Given the description of an element on the screen output the (x, y) to click on. 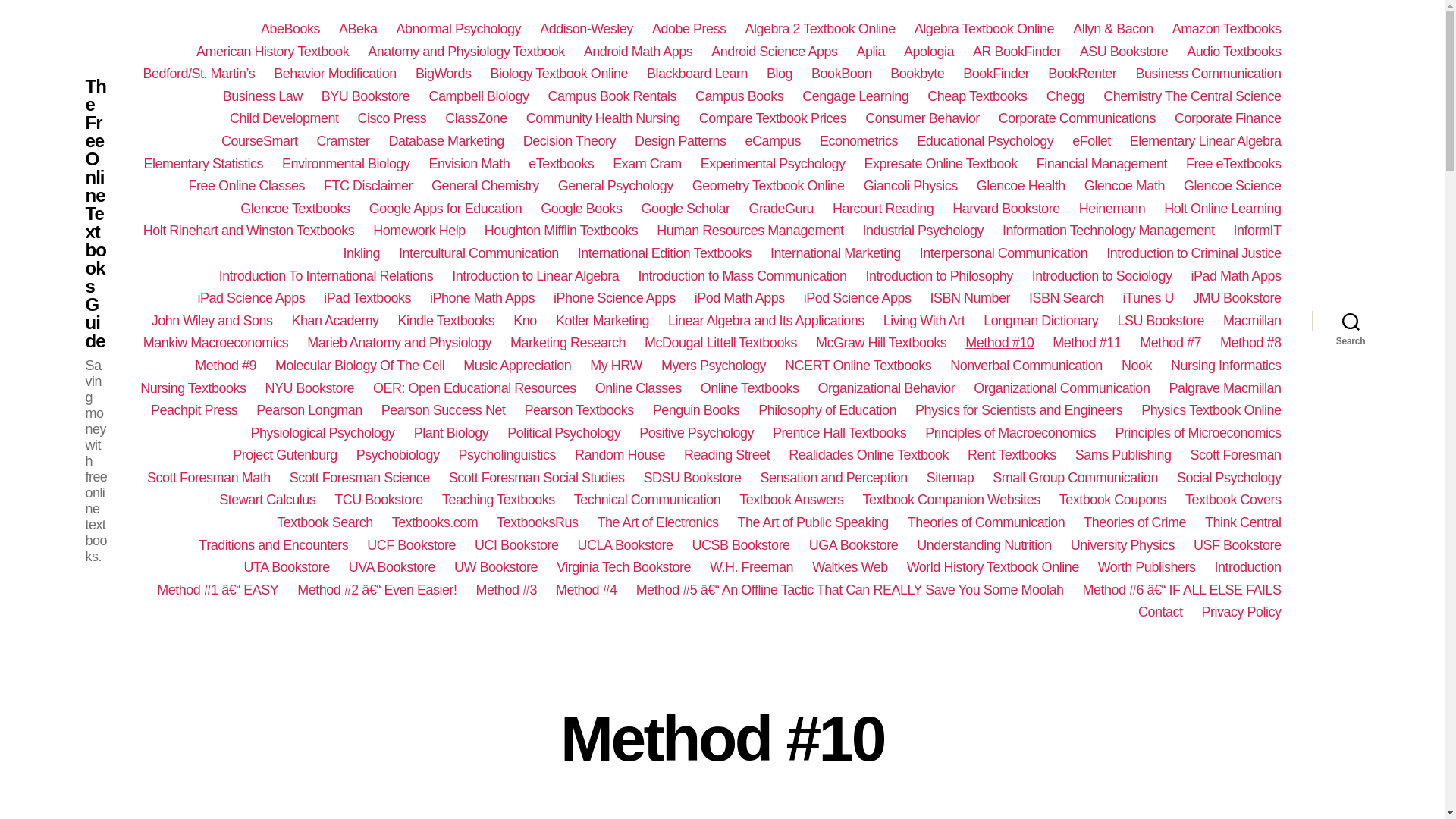
Business Law (262, 96)
AR BookFinder (1016, 52)
BookFinder (995, 74)
ABeka (358, 29)
Bookbyte (916, 74)
Campus Book Rentals (612, 96)
Android Science Apps (774, 52)
American History Textbook (272, 52)
Cheap Textbooks (976, 96)
Algebra Textbook Online (984, 29)
BookRenter (1082, 74)
Blog (779, 74)
BYU Bookstore (365, 96)
AbeBooks (290, 29)
Cengage Learning (855, 96)
